Given the description of an element on the screen output the (x, y) to click on. 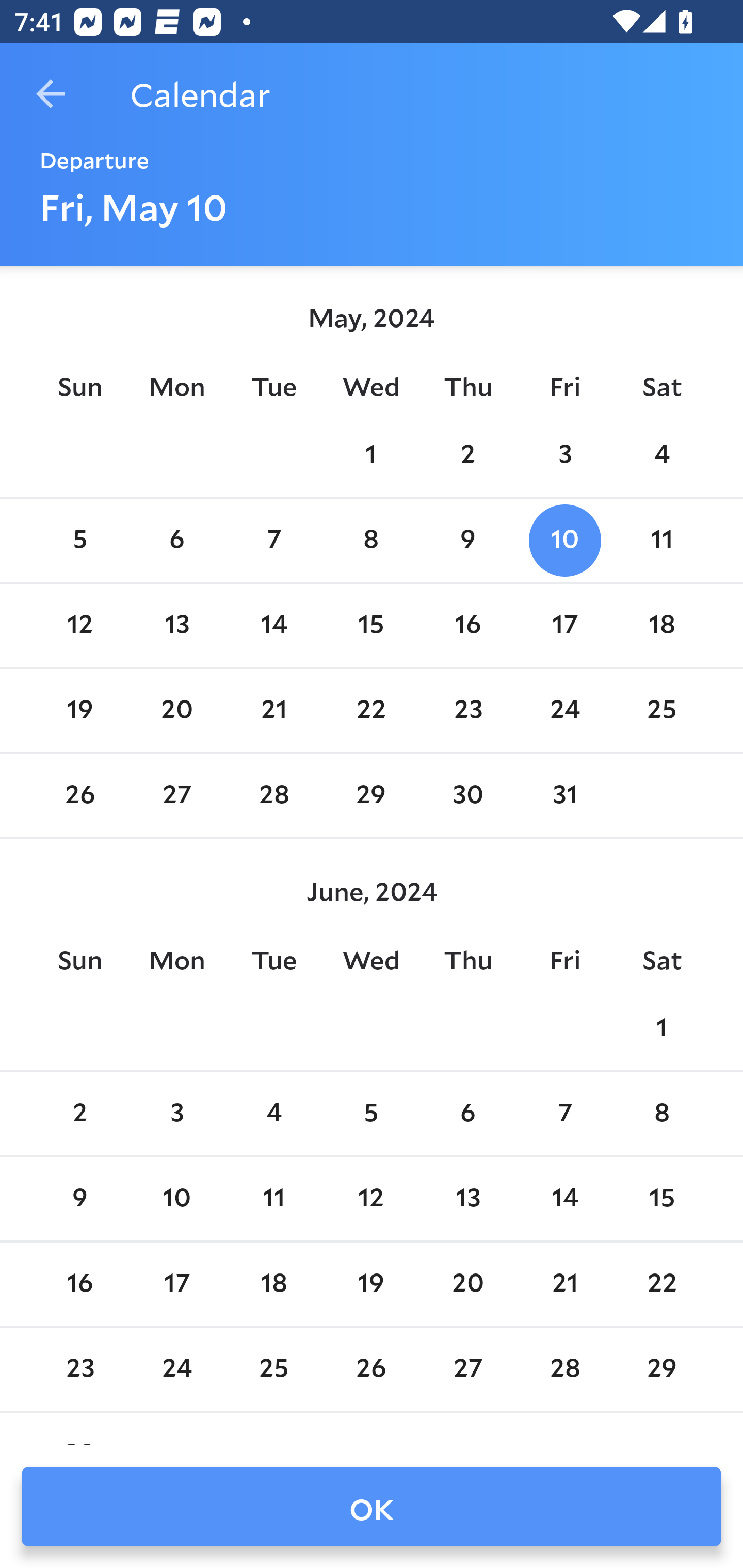
Navigate up (50, 93)
1 (371, 454)
2 (467, 454)
3 (565, 454)
4 (661, 454)
5 (79, 540)
6 (177, 540)
7 (273, 540)
8 (371, 540)
9 (467, 540)
10 (565, 540)
11 (661, 540)
12 (79, 625)
13 (177, 625)
14 (273, 625)
15 (371, 625)
16 (467, 625)
17 (565, 625)
18 (661, 625)
19 (79, 710)
20 (177, 710)
21 (273, 710)
22 (371, 710)
23 (467, 710)
24 (565, 710)
25 (661, 710)
26 (79, 796)
27 (177, 796)
28 (273, 796)
29 (371, 796)
30 (467, 796)
31 (565, 796)
1 (661, 1028)
2 (79, 1114)
3 (177, 1114)
4 (273, 1114)
5 (371, 1114)
6 (467, 1114)
7 (565, 1114)
8 (661, 1114)
9 (79, 1199)
10 (177, 1199)
11 (273, 1199)
12 (371, 1199)
13 (467, 1199)
14 (565, 1199)
15 (661, 1199)
16 (79, 1284)
17 (177, 1284)
18 (273, 1284)
